Given the description of an element on the screen output the (x, y) to click on. 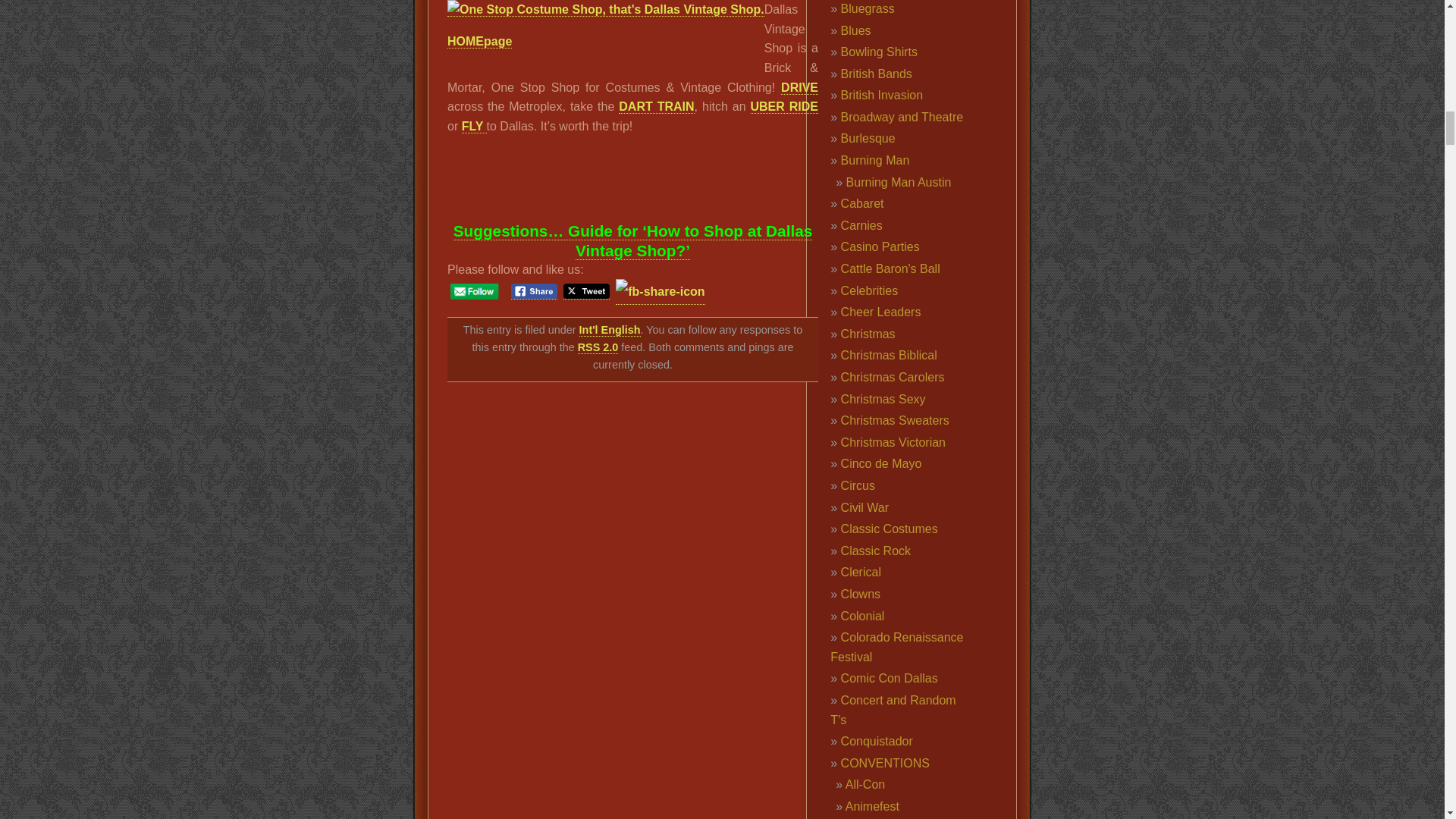
UBER RIDE (784, 106)
FLY (473, 126)
DRIVE (799, 87)
DART TRAIN (656, 106)
HOMEpage (479, 41)
